Given the description of an element on the screen output the (x, y) to click on. 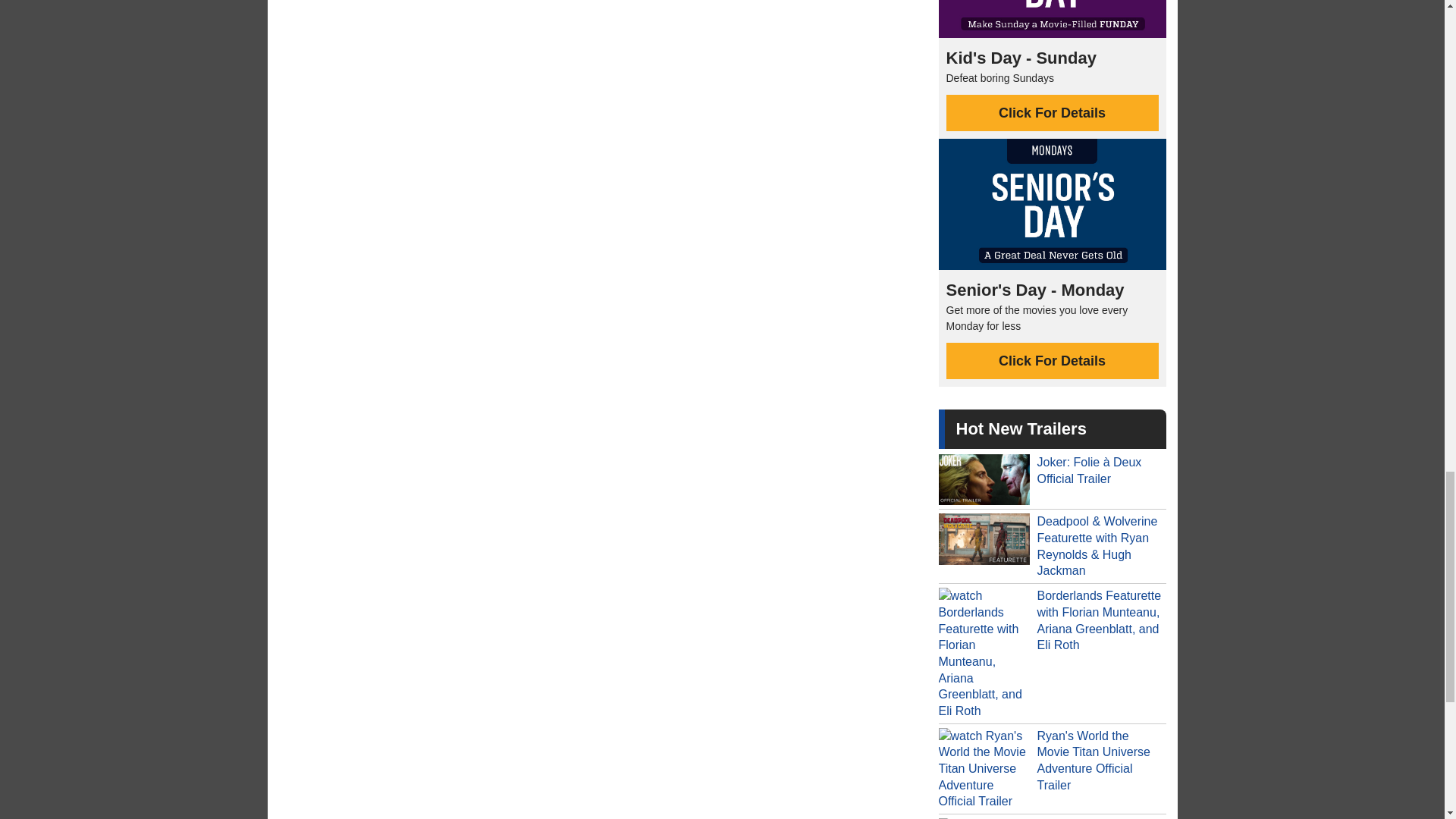
Click For Details (1052, 113)
Click For Details (1052, 361)
Speak No Evil Official Trailer 2 (1052, 816)
